Given the description of an element on the screen output the (x, y) to click on. 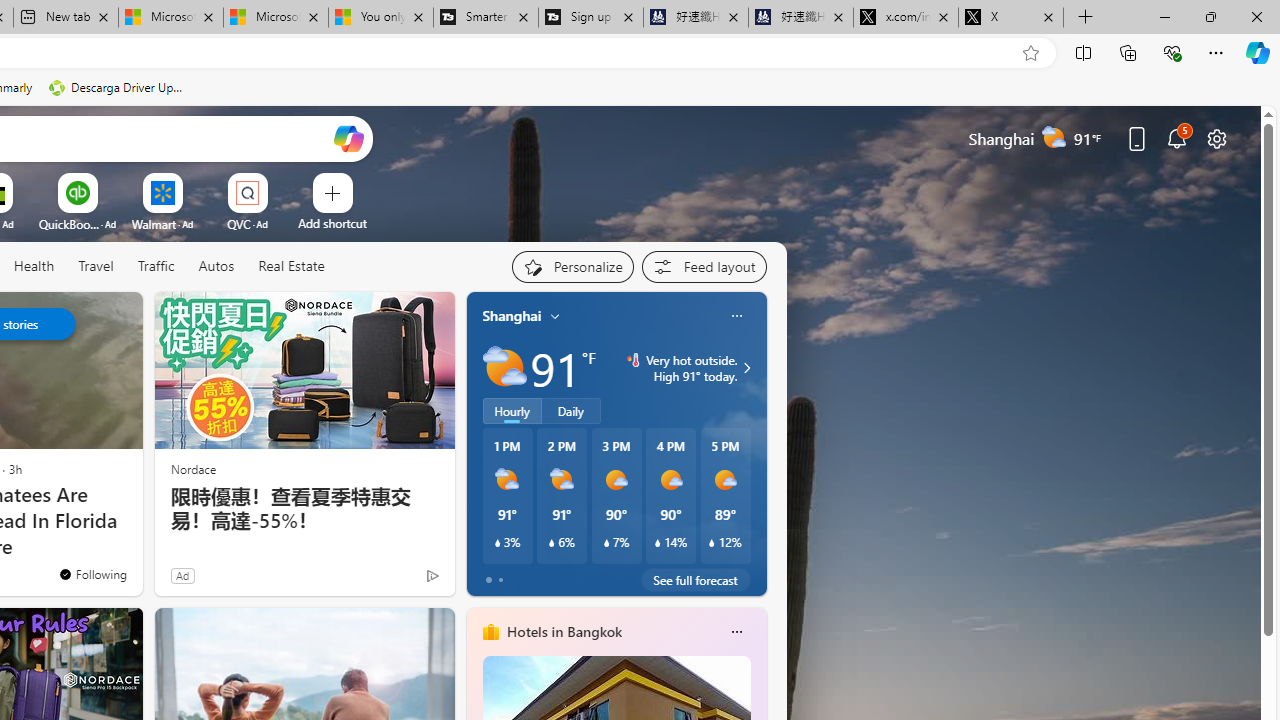
Page settings (1216, 138)
previous (476, 443)
Class: weather-current-precipitation-glyph (712, 543)
